Given the description of an element on the screen output the (x, y) to click on. 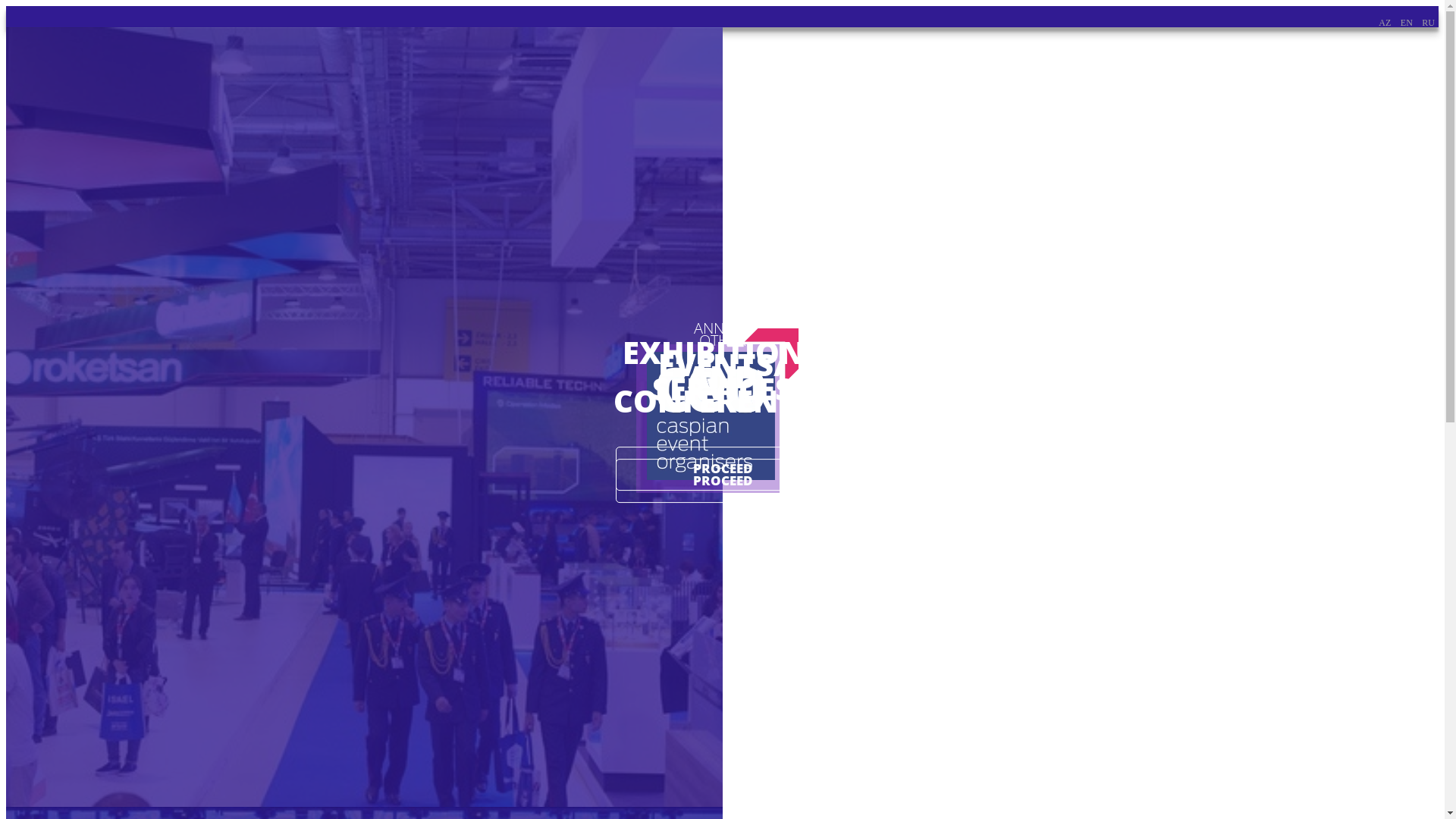
AZ Element type: text (1384, 22)
RU Element type: text (1427, 22)
ANNUAL
EXHIBITIONS
AND
CONFERENCES
PROCEED Element type: text (364, 416)
PROCEED Element type: text (721, 480)
PROCEED Element type: text (721, 468)
EN Element type: text (1406, 22)
